Given the description of an element on the screen output the (x, y) to click on. 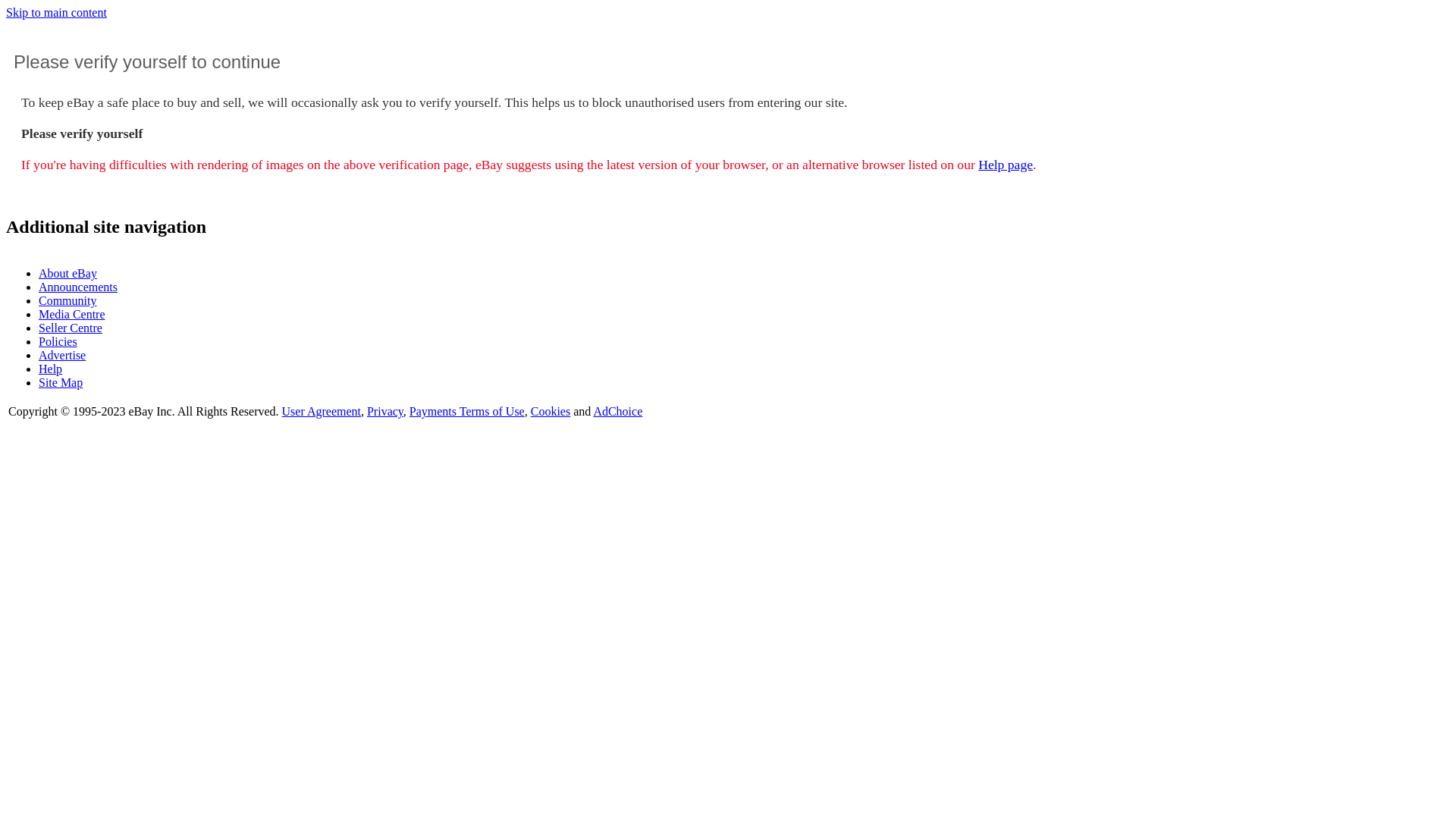
Site Map Element type: text (60, 382)
Privacy Element type: text (385, 410)
About eBay Element type: text (67, 272)
Help Element type: text (50, 368)
Cookies Element type: text (550, 410)
Help page Element type: text (1005, 164)
Policies Element type: text (57, 341)
Announcements Element type: text (77, 286)
AdChoice Element type: text (617, 410)
Advertise Element type: text (61, 354)
Seller Centre Element type: text (70, 327)
Media Centre Element type: text (71, 313)
Payments Terms of Use Element type: text (466, 410)
Community Element type: text (67, 300)
User Agreement Element type: text (321, 410)
Skip to main content Element type: text (56, 12)
